Given the description of an element on the screen output the (x, y) to click on. 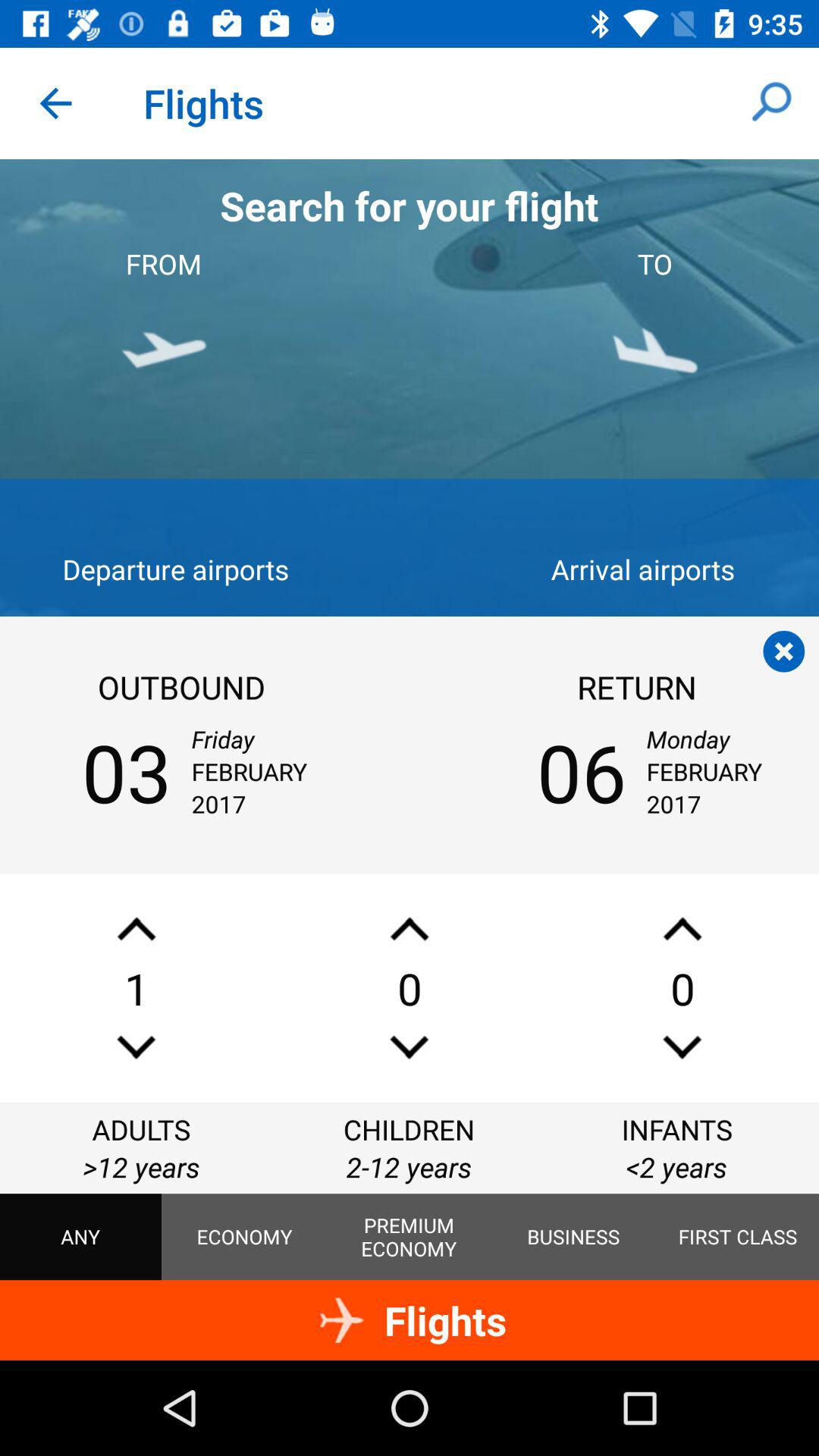
close the flight (784, 651)
